Given the description of an element on the screen output the (x, y) to click on. 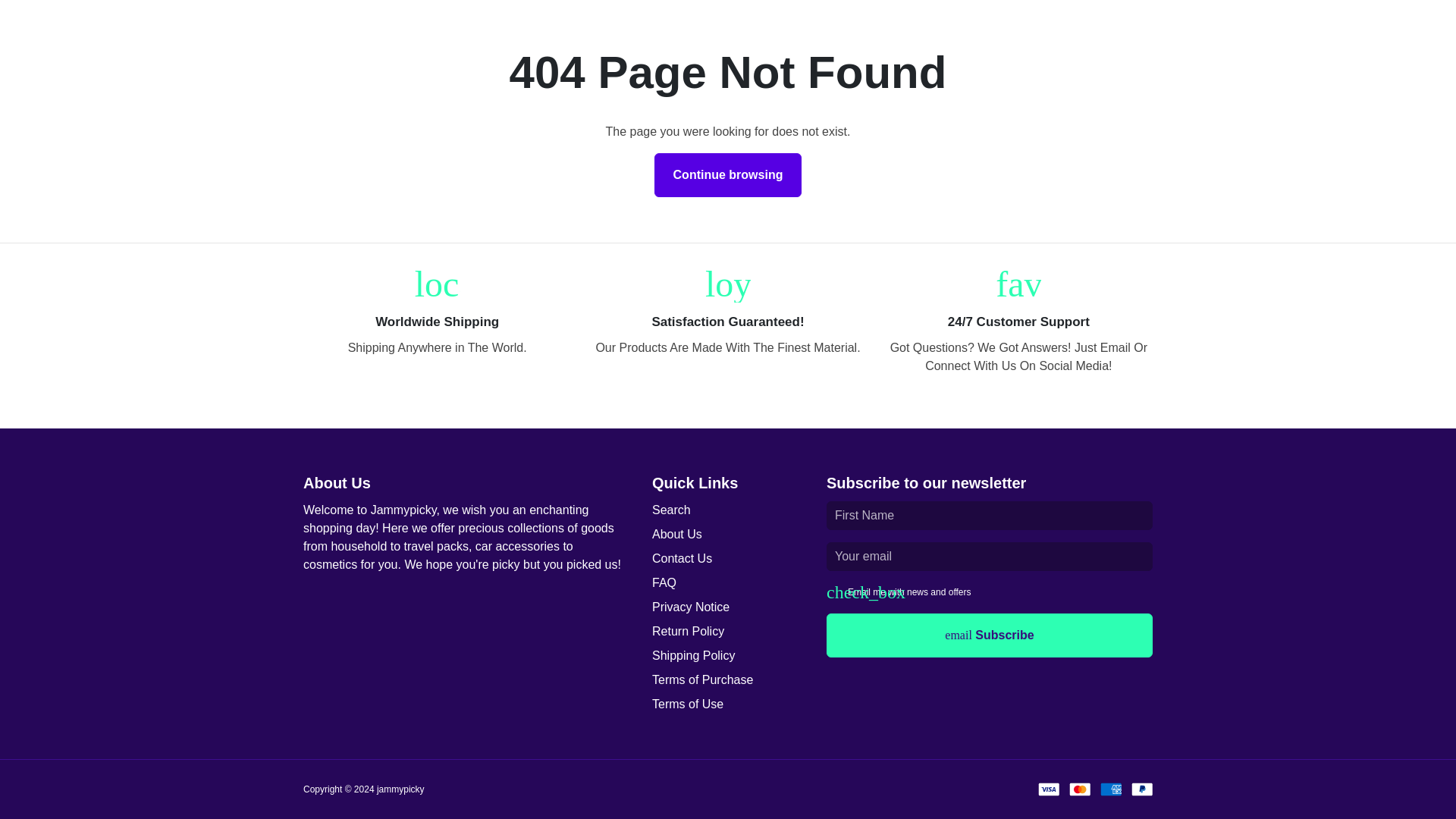
Continue browsing (727, 175)
email Subscribe (990, 635)
Terms of Purchase (702, 679)
About Us (676, 534)
Search (671, 510)
Visa (1048, 789)
PayPal (1142, 789)
Contact Us (681, 558)
All collections (751, 25)
Shipping Policy (693, 656)
Terms of Use (687, 704)
Cart (1108, 25)
Home (678, 25)
Return Policy (687, 631)
